Given the description of an element on the screen output the (x, y) to click on. 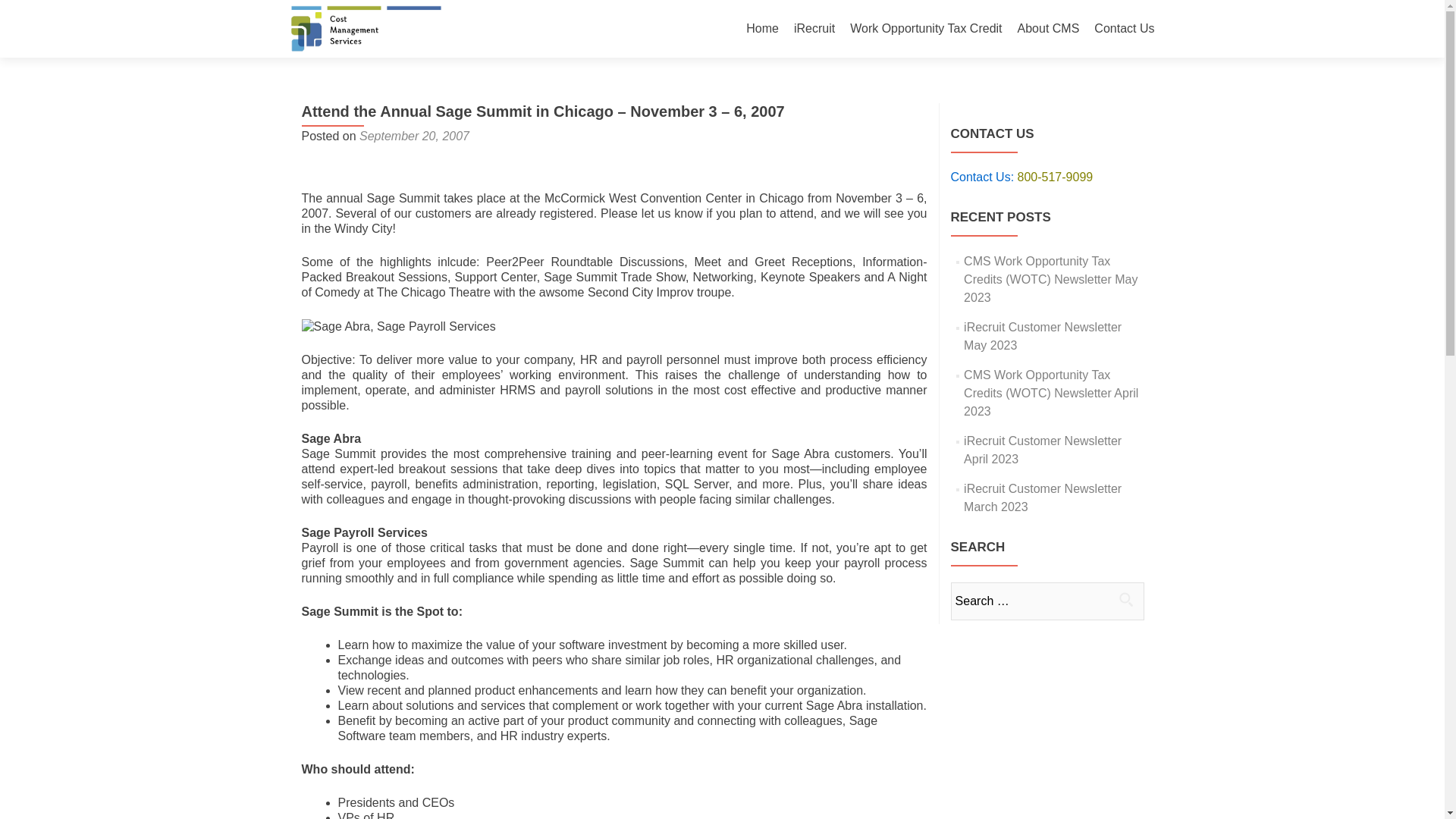
Contact Us (1124, 28)
iRecruit Customer Newsletter May 2023 (1042, 336)
September 20, 2007 (413, 135)
About CMS (1048, 28)
Home (761, 28)
Search (1125, 599)
Search (1125, 599)
Search (1125, 599)
iRecruit (813, 28)
Work Opportunity Tax Credit (925, 28)
